Given the description of an element on the screen output the (x, y) to click on. 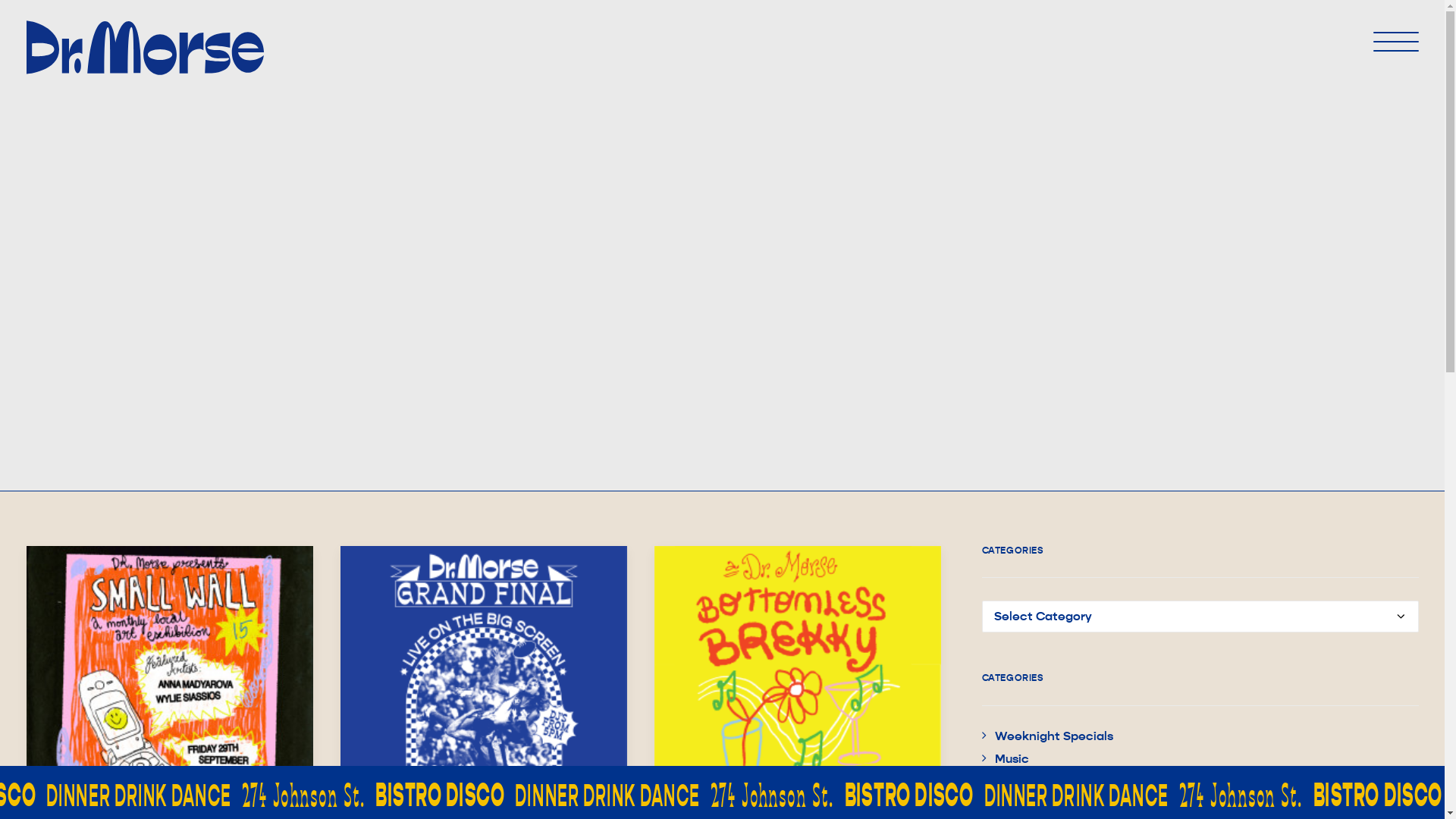
Events Element type: text (1008, 804)
Food & Drink Element type: text (1024, 781)
Music Element type: text (1004, 758)
Weeknight Specials Element type: text (1046, 735)
